Given the description of an element on the screen output the (x, y) to click on. 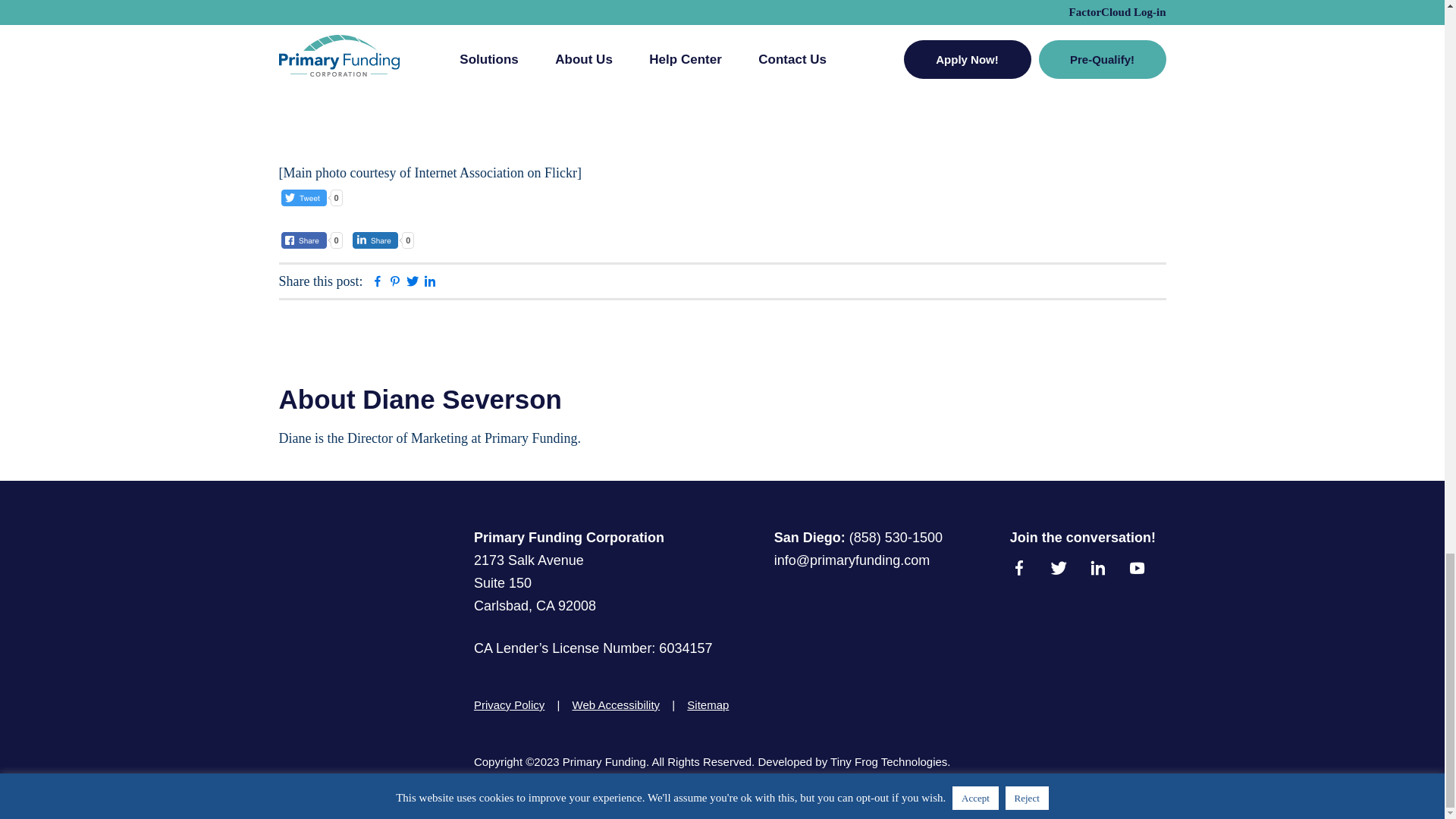
Facebook (376, 283)
Privacy Policy (513, 704)
Web Accessibility (615, 704)
Share on Linkedin (429, 283)
Pin on Pinterest (394, 283)
dashicons-facebook-alt (1024, 569)
Sitemap (708, 704)
Share on Facebook (376, 283)
Twitter (411, 283)
Footer Logo (289, 583)
Share on Twitter (411, 283)
Linkedin (429, 283)
Pinterest (394, 283)
